Given the description of an element on the screen output the (x, y) to click on. 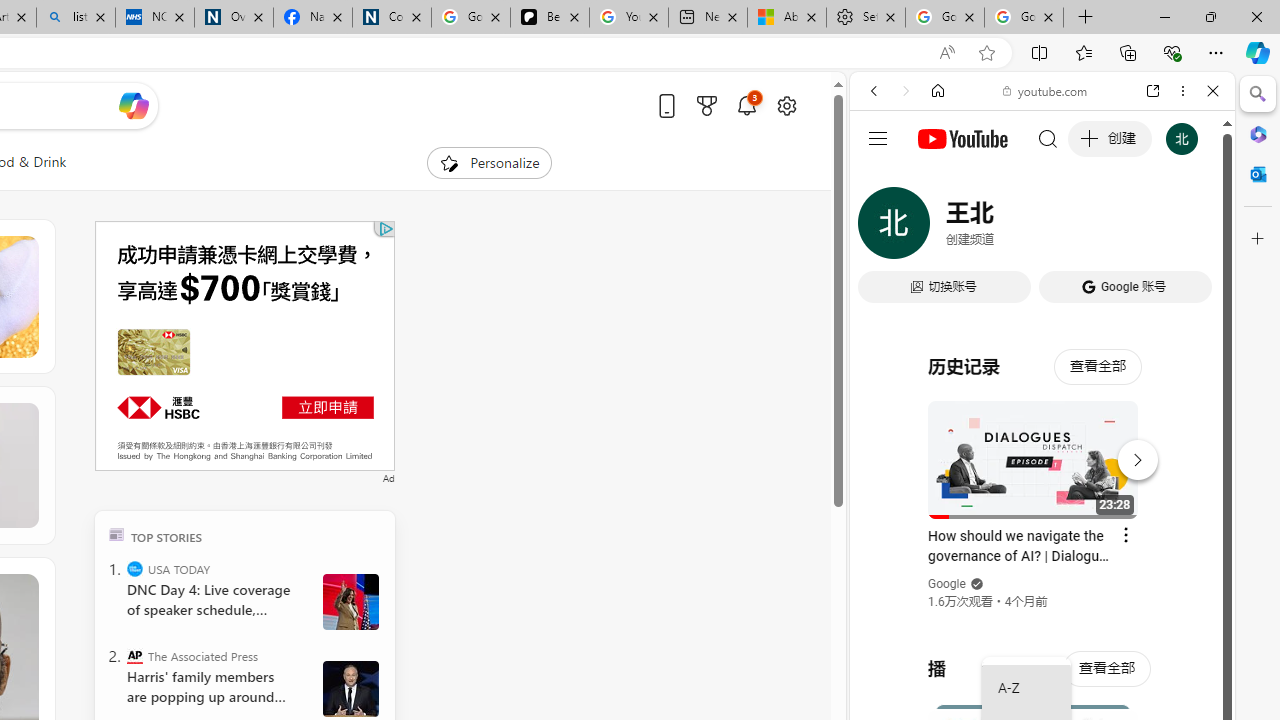
#you (1042, 445)
Open settings (786, 105)
NCL Adult Asthma Inhaler Choice Guideline (155, 17)
Be Smart | creating Science videos | Patreon (549, 17)
TOP (116, 534)
